Given the description of an element on the screen output the (x, y) to click on. 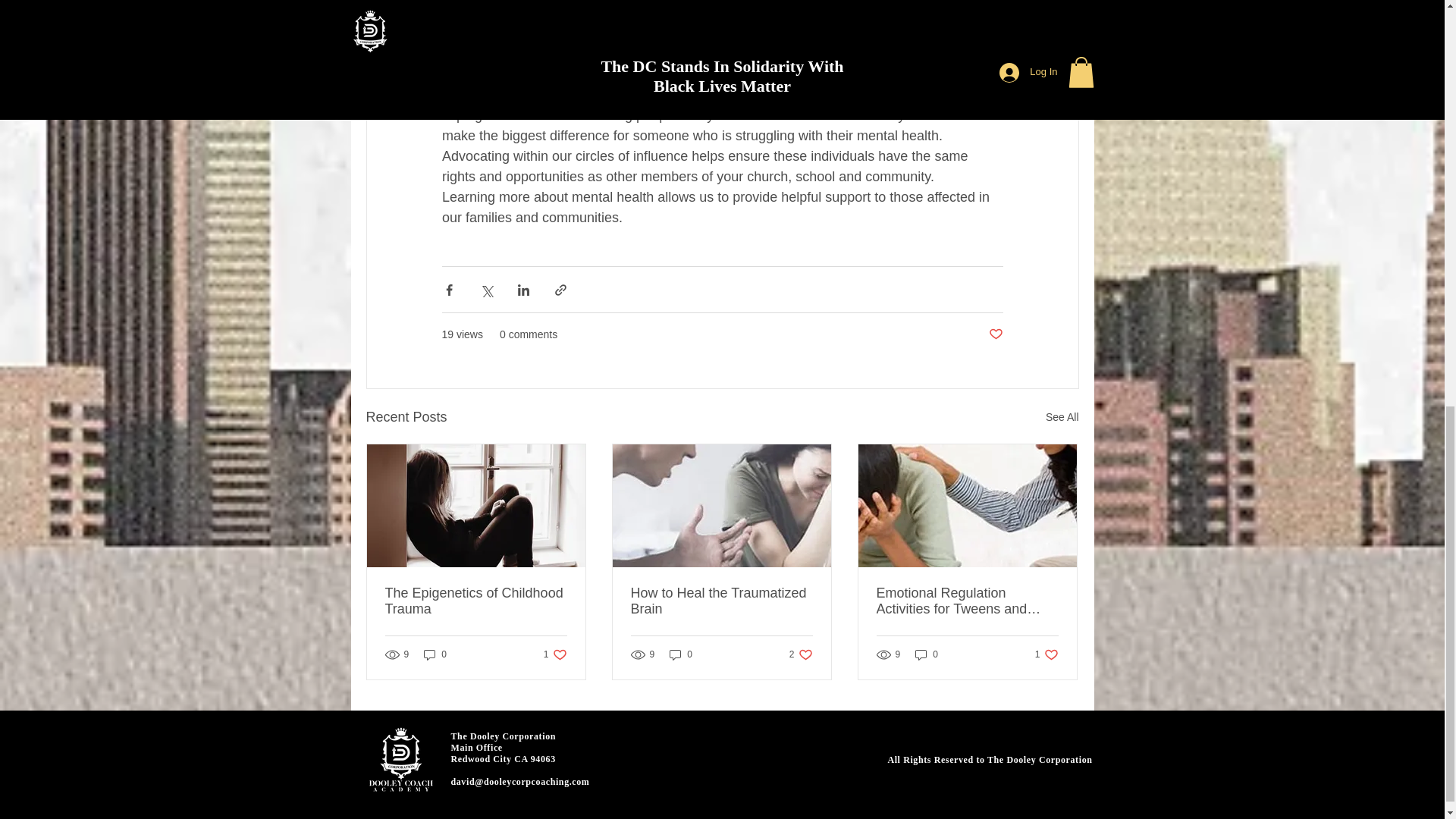
The Epigenetics of Childhood Trauma (476, 601)
0 (926, 654)
See All (1061, 417)
How to Heal the Traumatized Brain (721, 601)
Emotional Regulation Activities for Tweens and Teens (555, 654)
0 (967, 601)
0 (681, 654)
Post not marked as liked (435, 654)
